Given the description of an element on the screen output the (x, y) to click on. 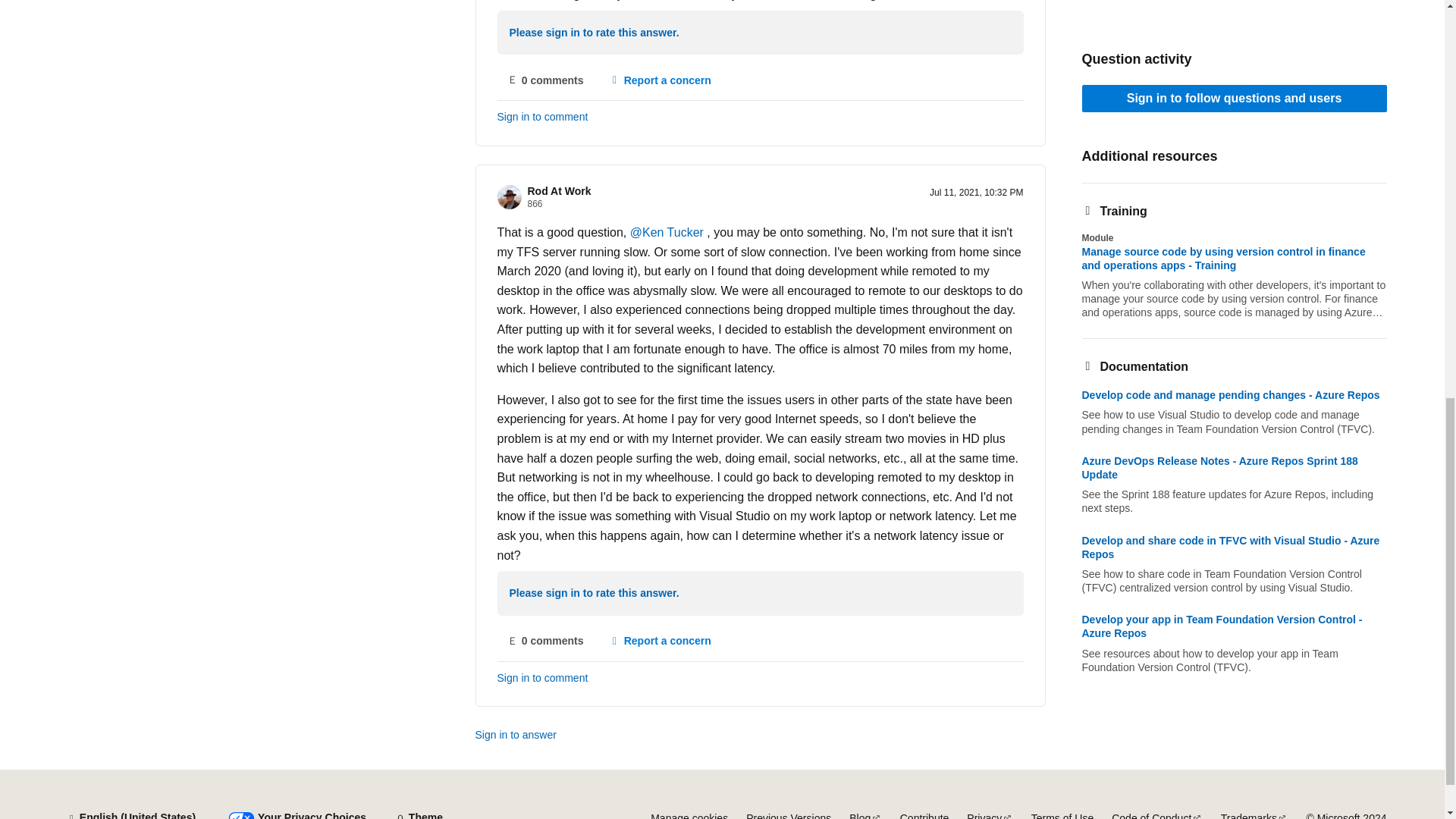
Reputation points (535, 204)
Report a concern (659, 80)
Report a concern (659, 641)
No comments (545, 80)
No comments (545, 641)
